Given the description of an element on the screen output the (x, y) to click on. 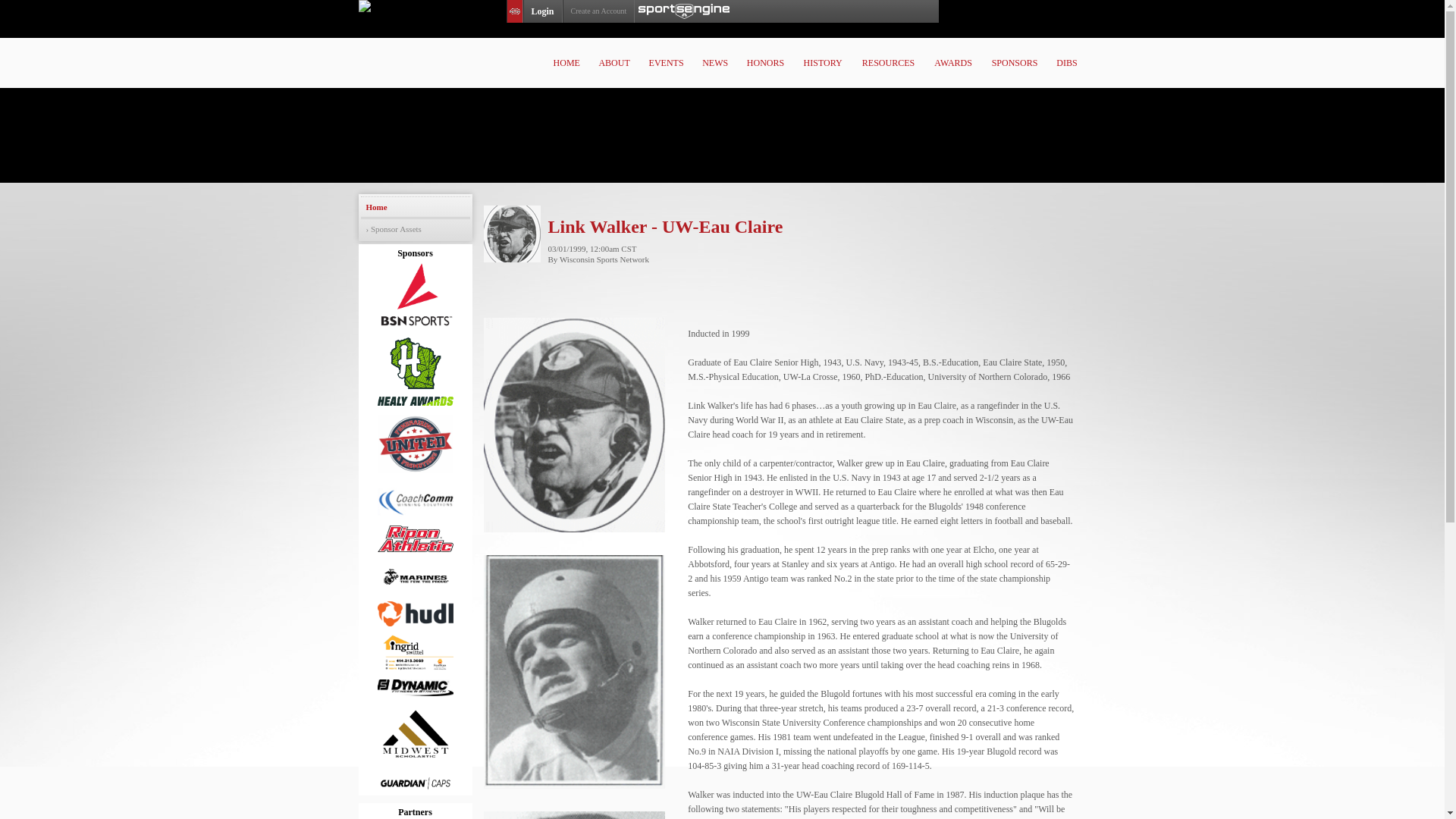
click to go to 'Events' (666, 62)
Login (542, 11)
Create an Account (598, 11)
Wisconsin Football Coaches Association (733, 47)
Login (542, 11)
EVENTS (666, 62)
Wisconsin Football Coaches Association Homepage (733, 47)
ABOUT (614, 62)
click to go to 'About' (614, 62)
SportsEngine (684, 11)
